Given the description of an element on the screen output the (x, y) to click on. 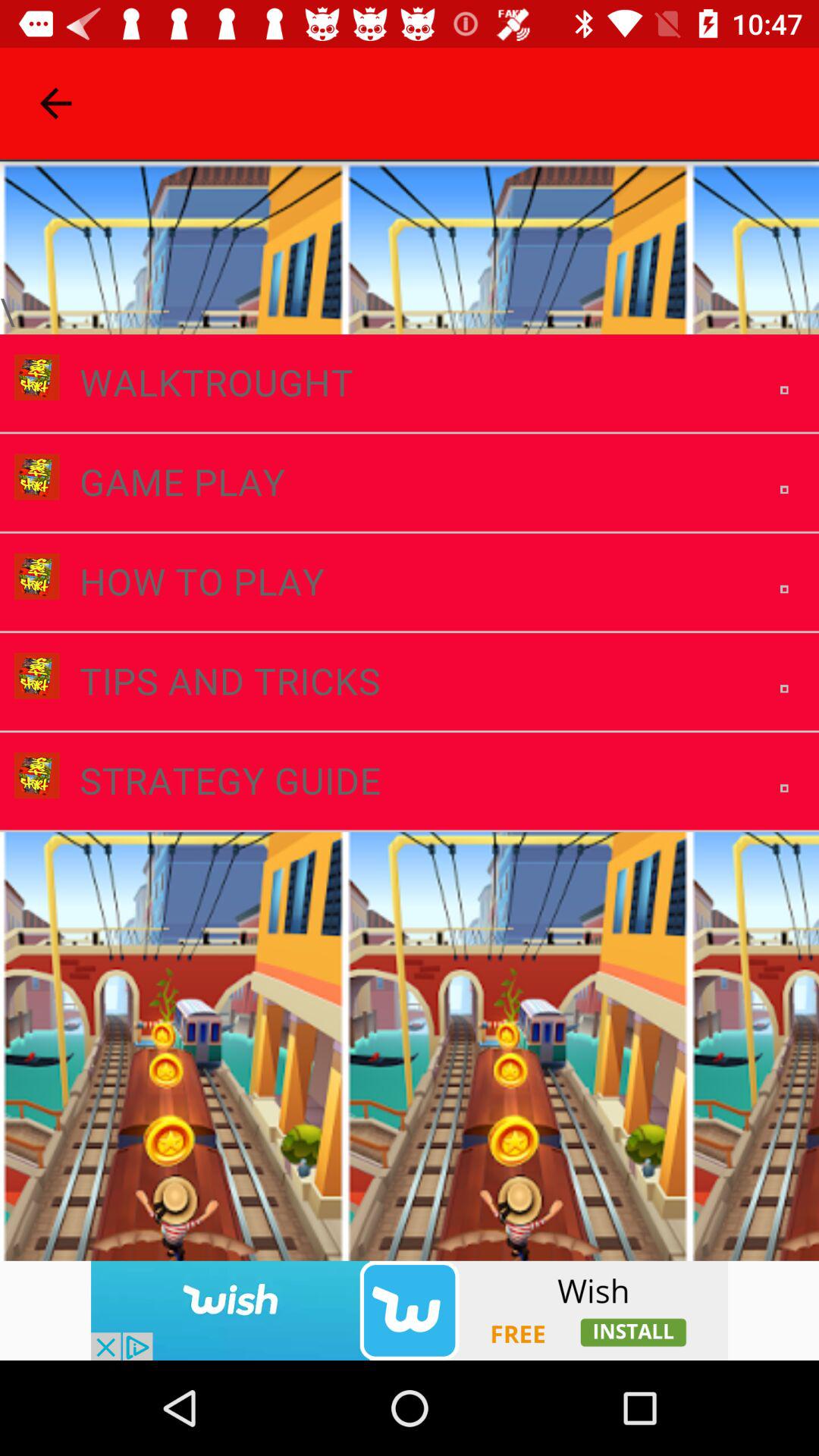
wish (409, 1310)
